Given the description of an element on the screen output the (x, y) to click on. 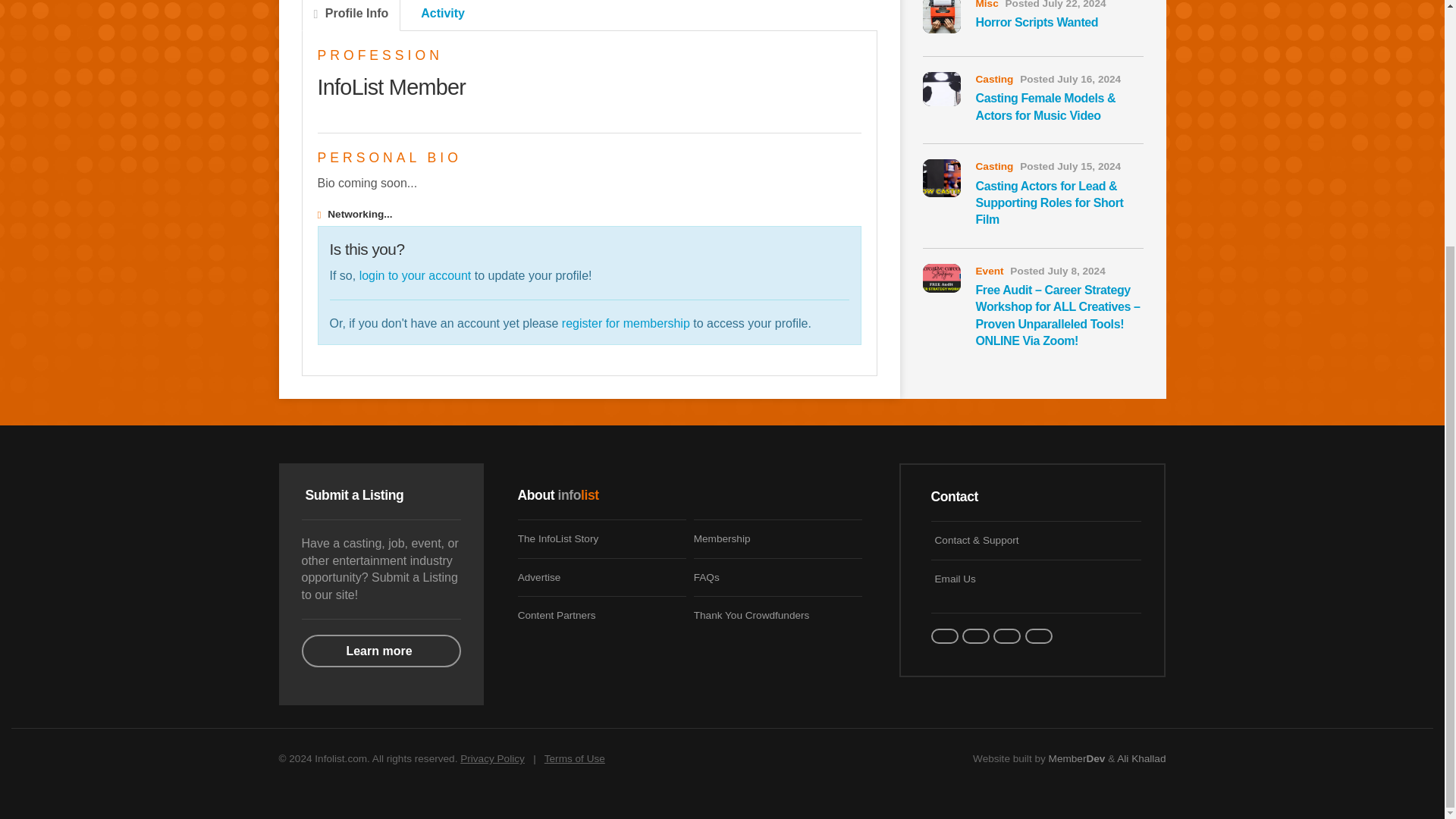
Horror Scripts Wanted (1036, 21)
Activity (439, 15)
login to your account (415, 275)
register for membership (626, 323)
Profile Info (351, 15)
